Given the description of an element on the screen output the (x, y) to click on. 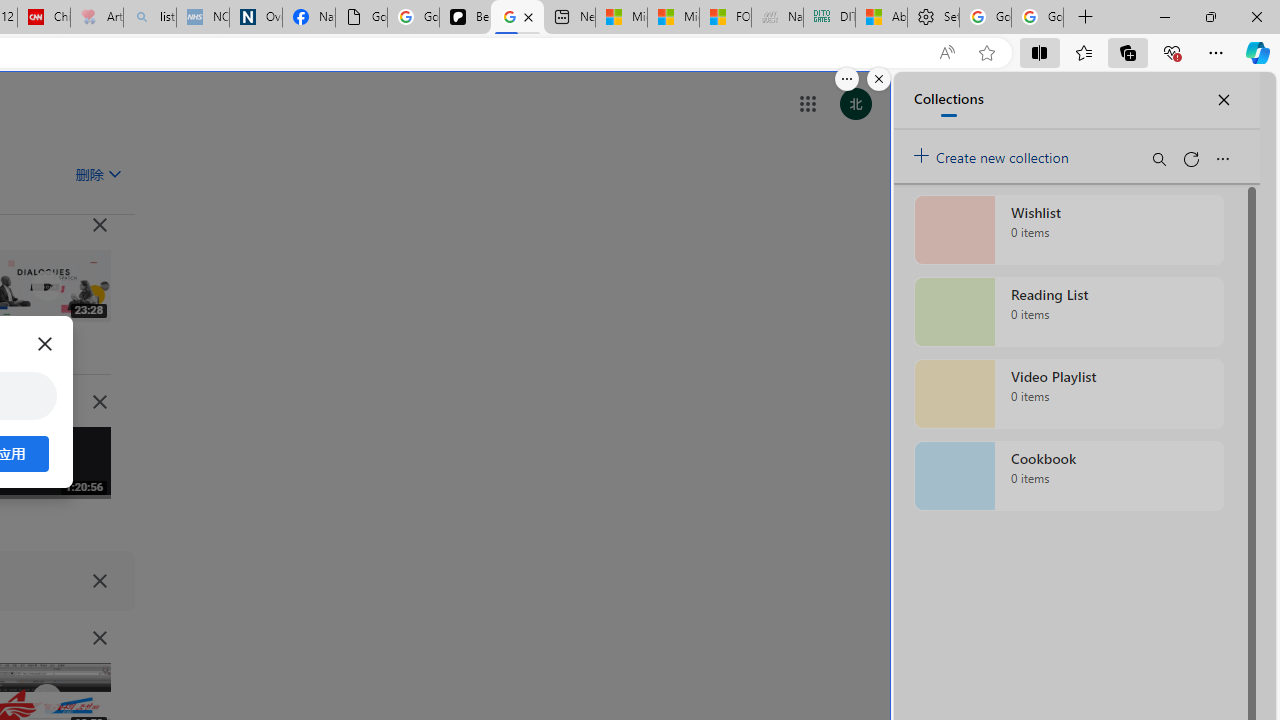
Google Analytics Opt-out Browser Add-on Download Page (360, 17)
Close split screen. (878, 79)
More options. (846, 79)
Class: IVR0f NMm5M (47, 699)
FOX News - MSN (725, 17)
